Given the description of an element on the screen output the (x, y) to click on. 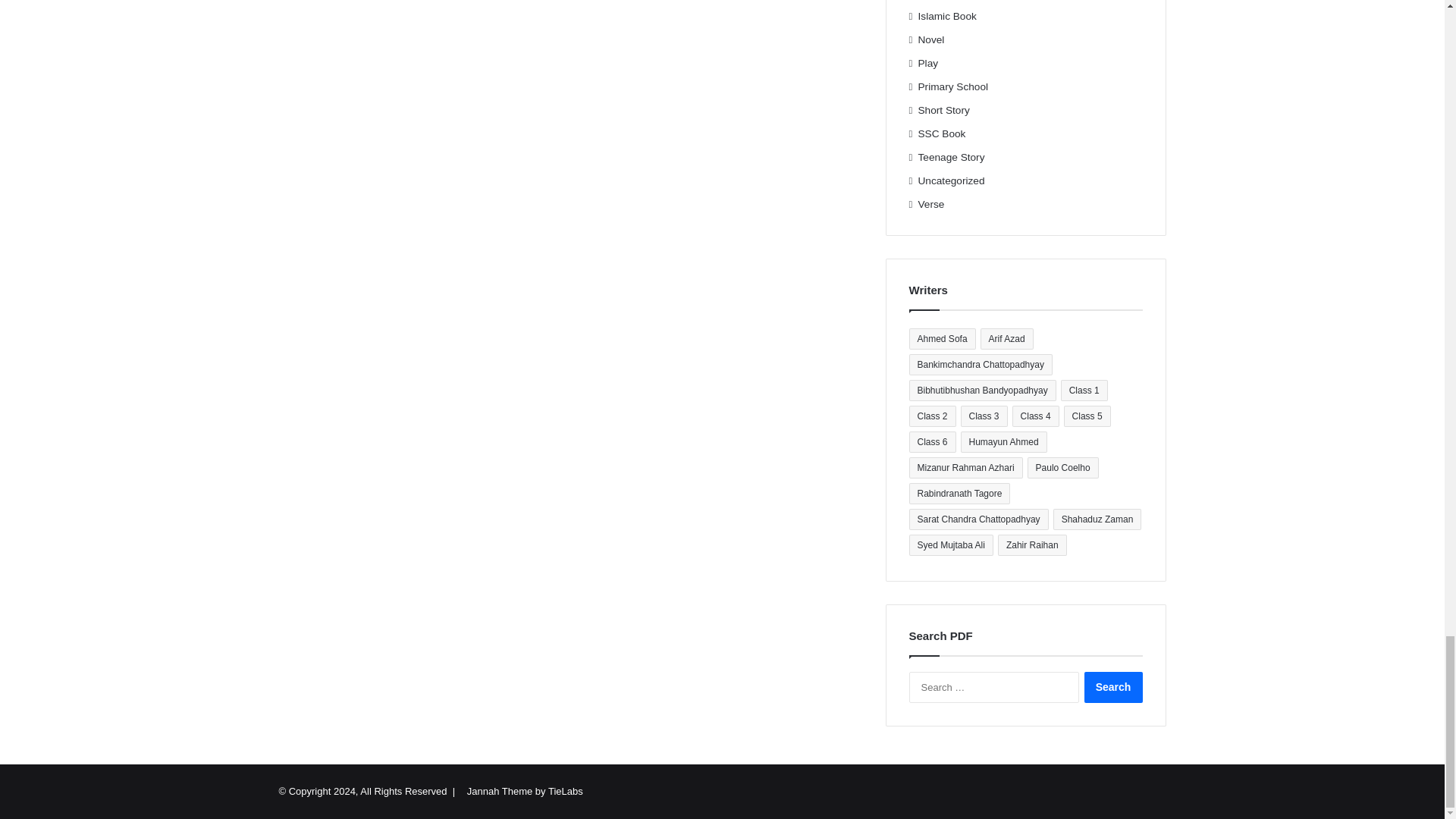
Search (1113, 686)
Search (1113, 686)
